Given the description of an element on the screen output the (x, y) to click on. 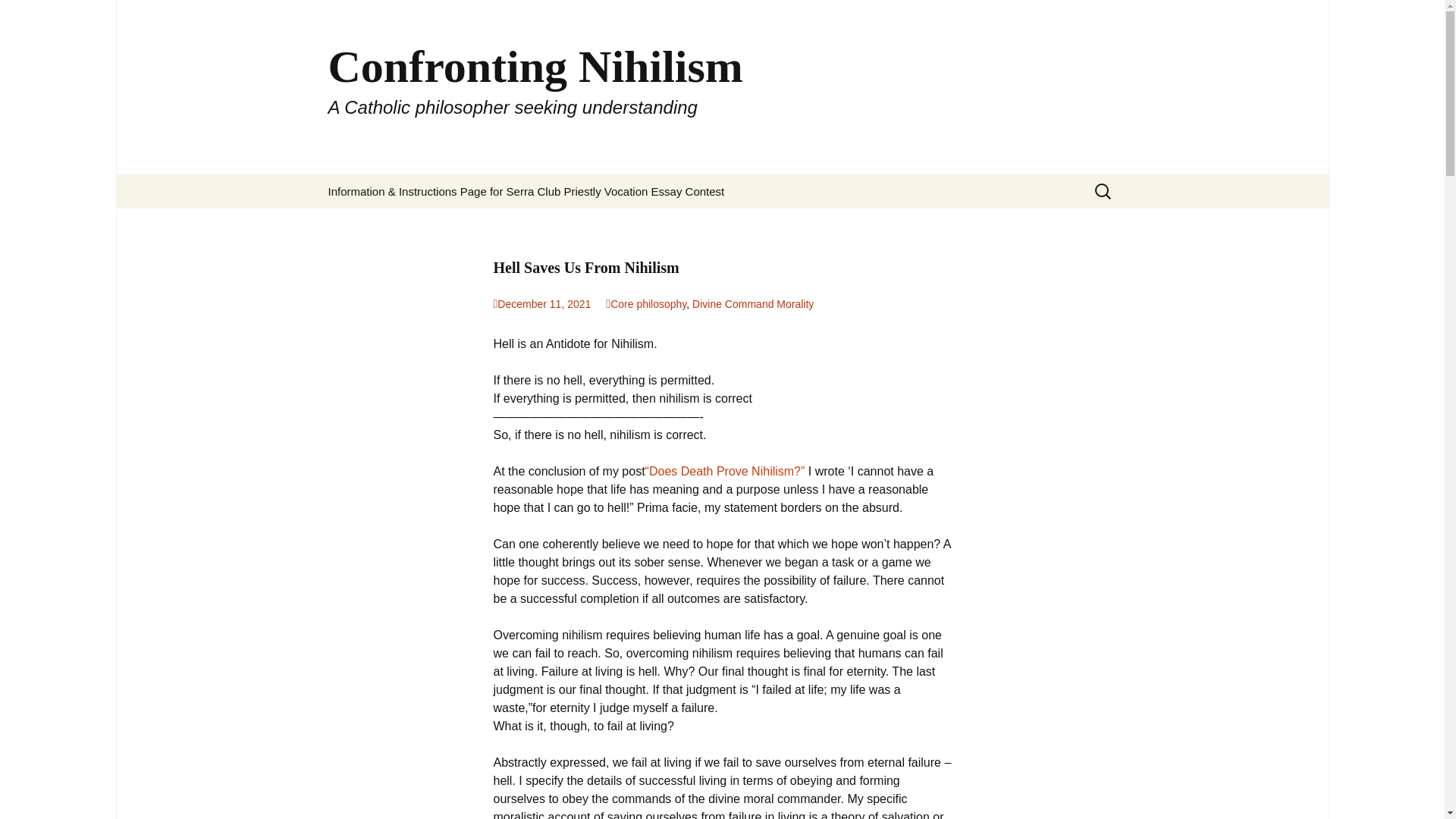
Search (18, 15)
December 11, 2021 (542, 304)
Permalink to  Hell Saves Us From Nihilism  (542, 304)
Core philosophy (645, 304)
Divine Command Morality (753, 304)
Search (34, 15)
